Given the description of an element on the screen output the (x, y) to click on. 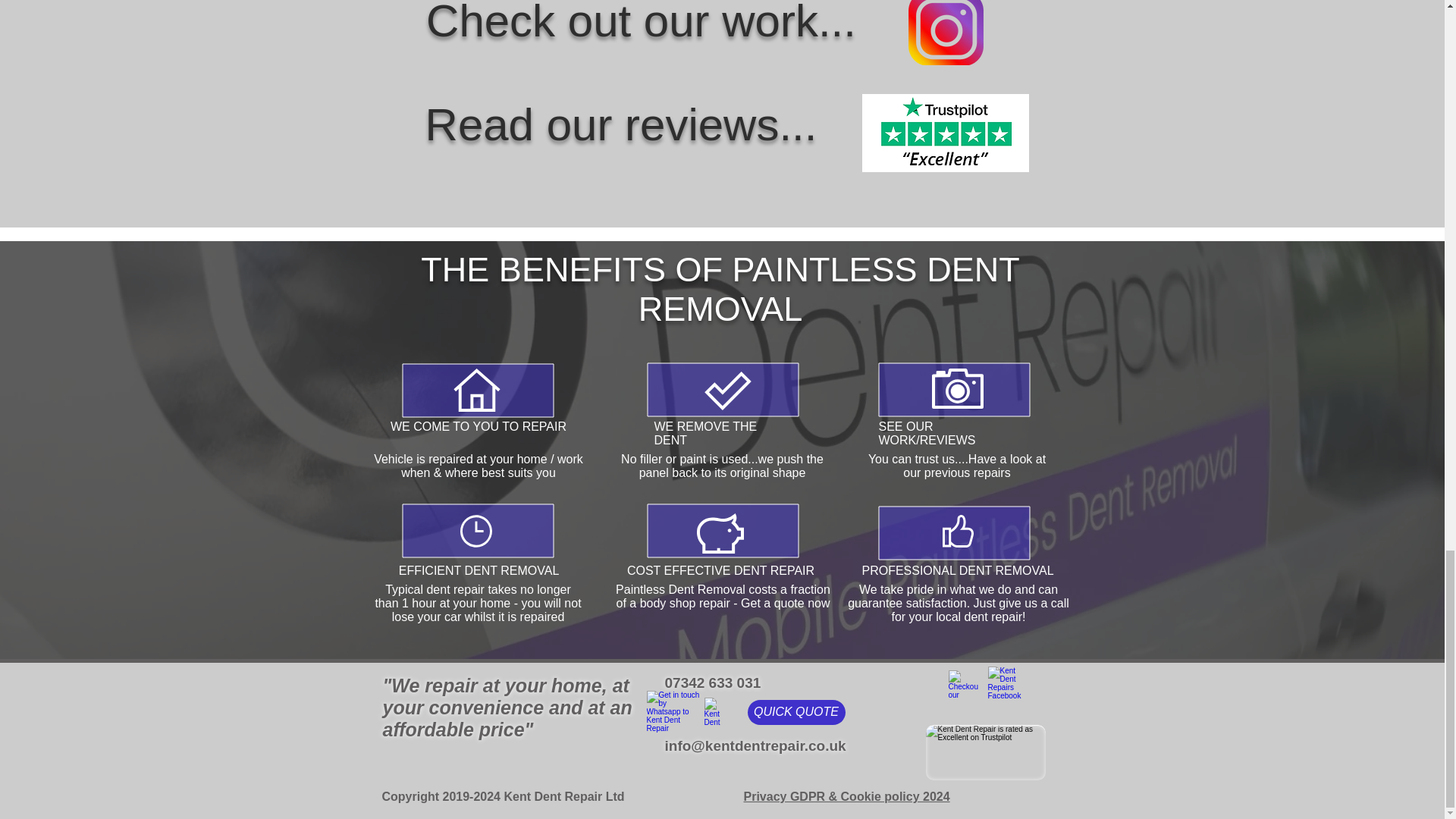
Clckto go to Kent Den Repairs Facebook Page (1005, 683)
Read our reviews... (620, 124)
Click to read our Excellent Trustpilot reviews (944, 132)
QUICK QUOTE (796, 712)
Check out our work... (641, 22)
Click to see previous repairs (946, 32)
Click to send Kent Dent Repair a WhatsApp message (672, 712)
Click to check out our previous repairs (961, 684)
Get a quote now (785, 603)
You can trust us....Have a look at our previous repairs (956, 465)
